Given the description of an element on the screen output the (x, y) to click on. 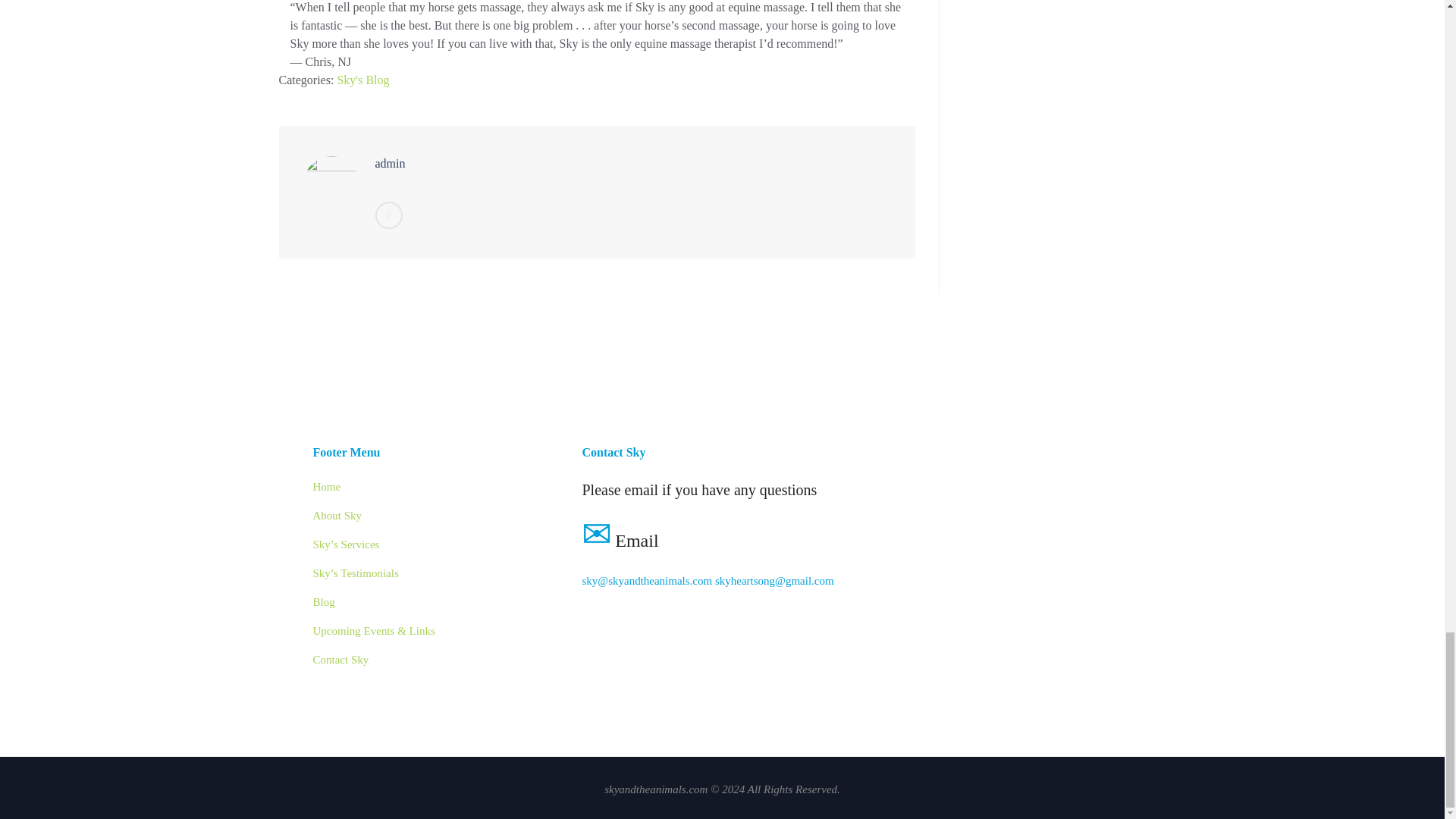
Sky's Blog (362, 79)
